Given the description of an element on the screen output the (x, y) to click on. 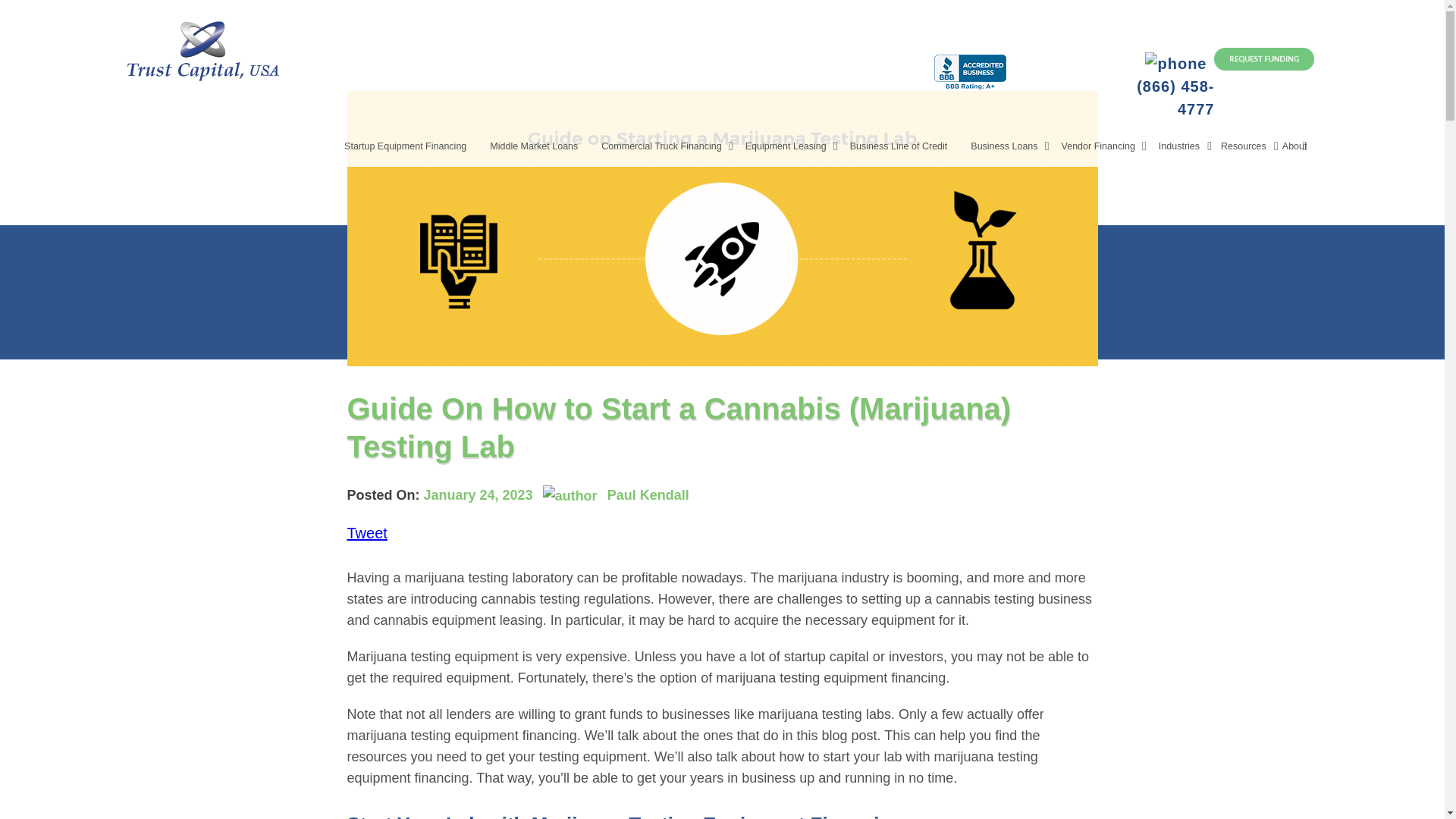
Middle Market Loans (540, 151)
Equipment Leasing (792, 151)
Industries (1184, 151)
Commercial Truck Financing (667, 151)
Startup Equipment Financing (411, 151)
Resources (1244, 151)
Customer reviews powered by Trustpilot (486, 35)
Business Line of Credit (904, 151)
TRUST CAPITAL LOGO (203, 48)
Business Loans (1010, 151)
